Given the description of an element on the screen output the (x, y) to click on. 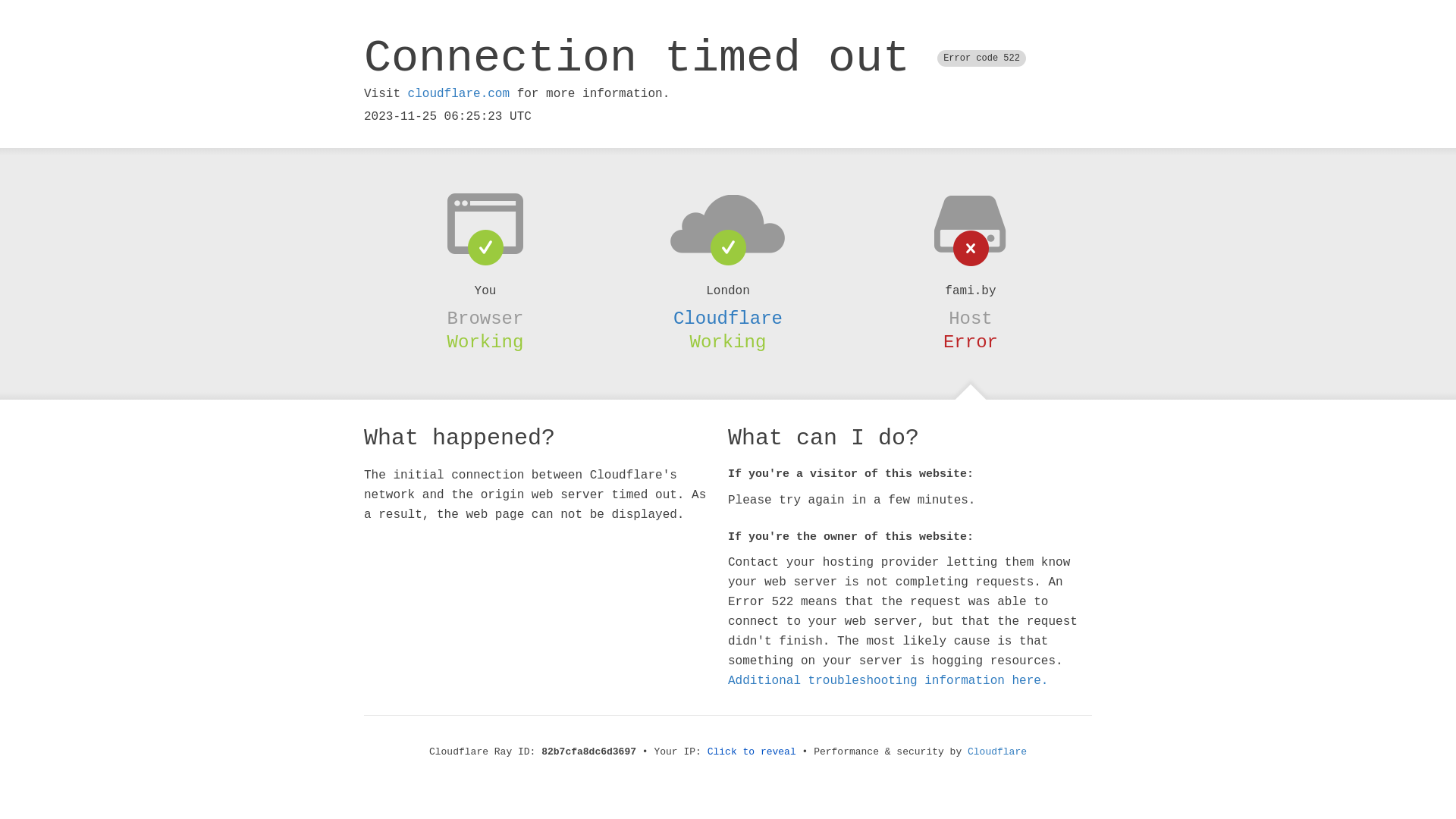
Cloudflare Element type: text (996, 751)
Additional troubleshooting information here. Element type: text (888, 680)
Click to reveal Element type: text (751, 751)
Cloudflare Element type: text (727, 318)
cloudflare.com Element type: text (458, 93)
